Given the description of an element on the screen output the (x, y) to click on. 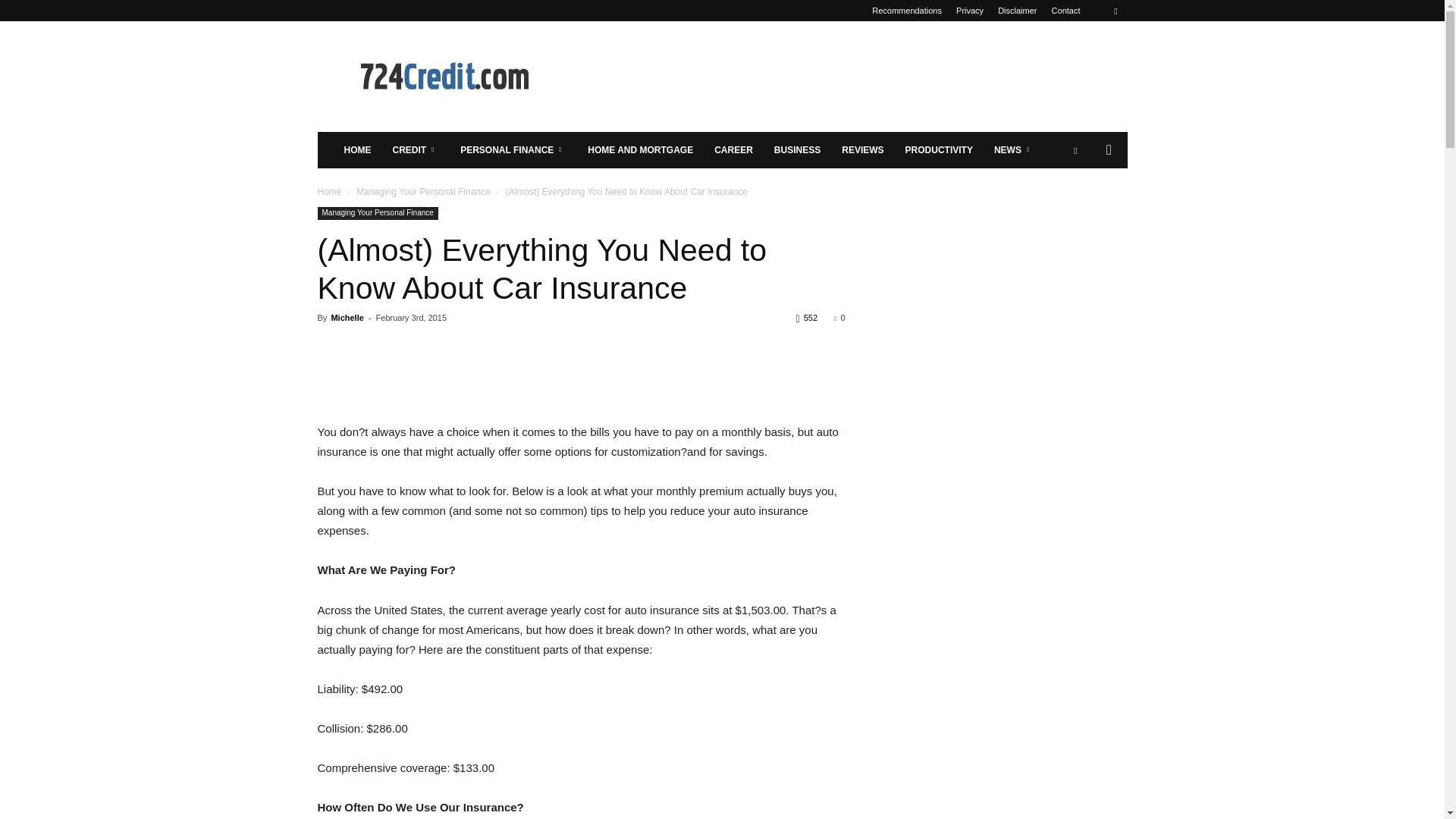
Contact (1065, 10)
Facebook (1114, 10)
Privacy (970, 10)
Recommendations (907, 10)
View all posts in Managing Your Personal Finance (423, 191)
Disclaimer (1016, 10)
